Given the description of an element on the screen output the (x, y) to click on. 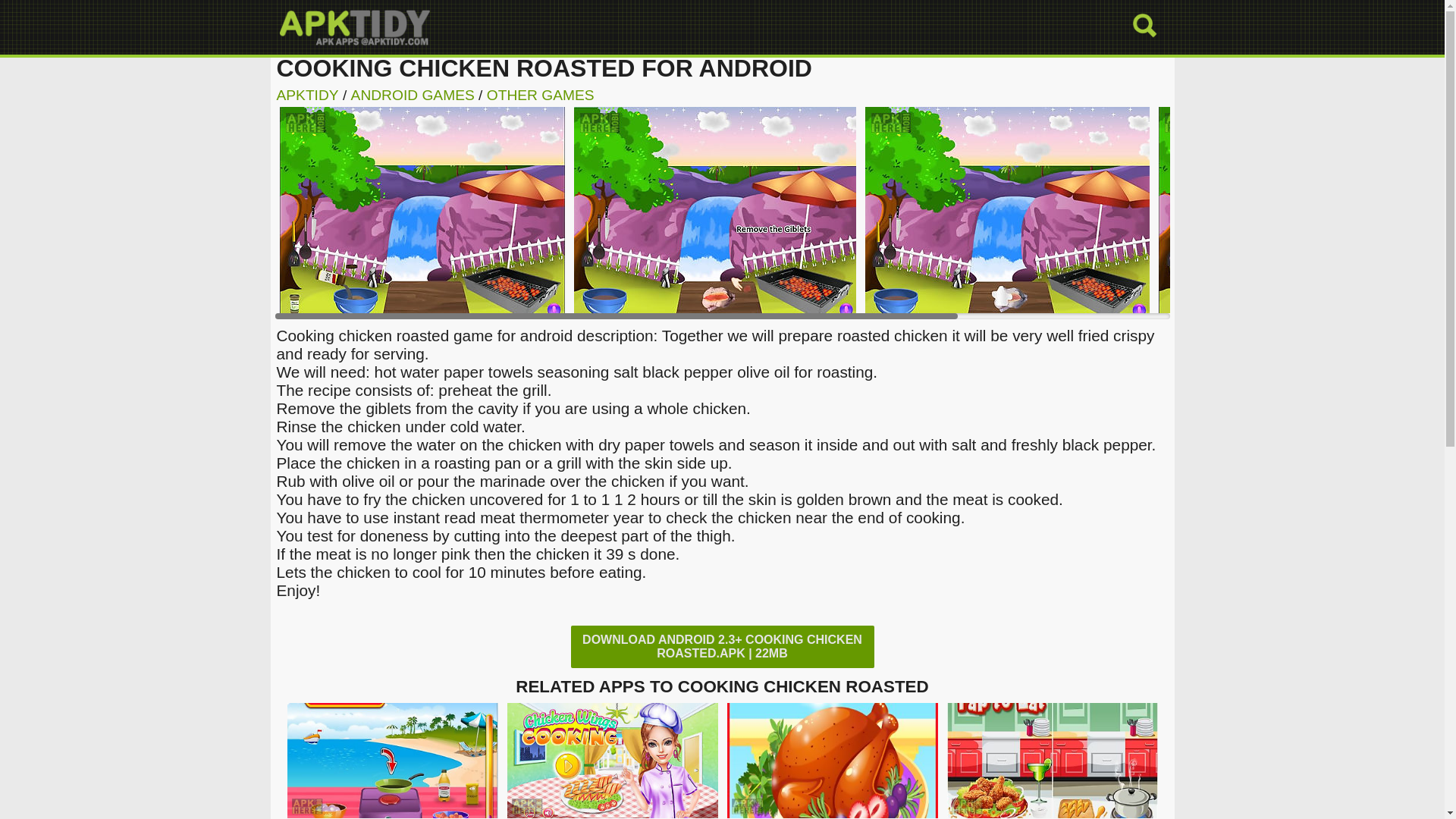
APKTIDY (306, 94)
ANDROID GAMES (412, 94)
COOKING DELICIOUS CHICKEN (391, 813)
CHICKEN WINGS MAKER COOKING (1051, 813)
CHICKEN COOKING GAMES (831, 813)
CHICKEN WINGS COOKING (611, 813)
